Given the description of an element on the screen output the (x, y) to click on. 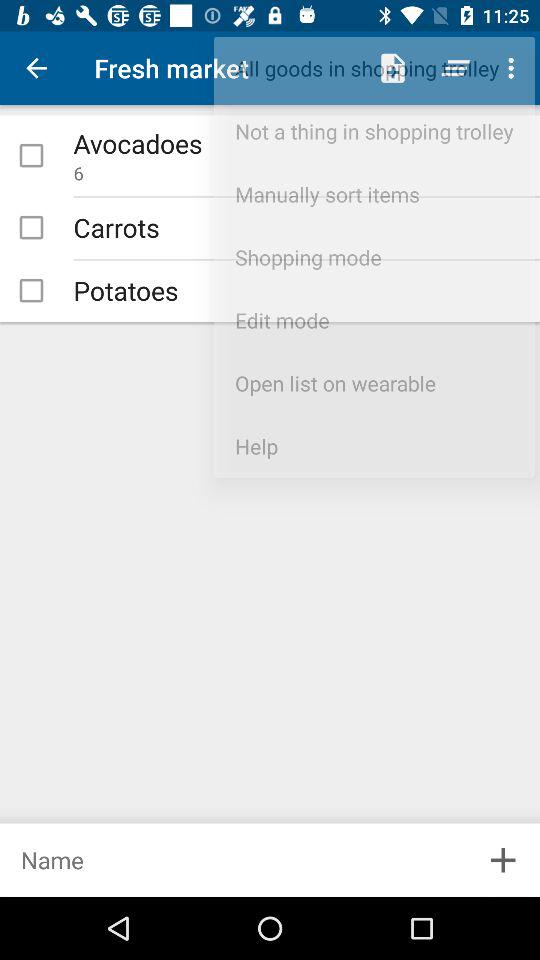
click on the button which is left side of the carrots (31, 227)
